Given the description of an element on the screen output the (x, y) to click on. 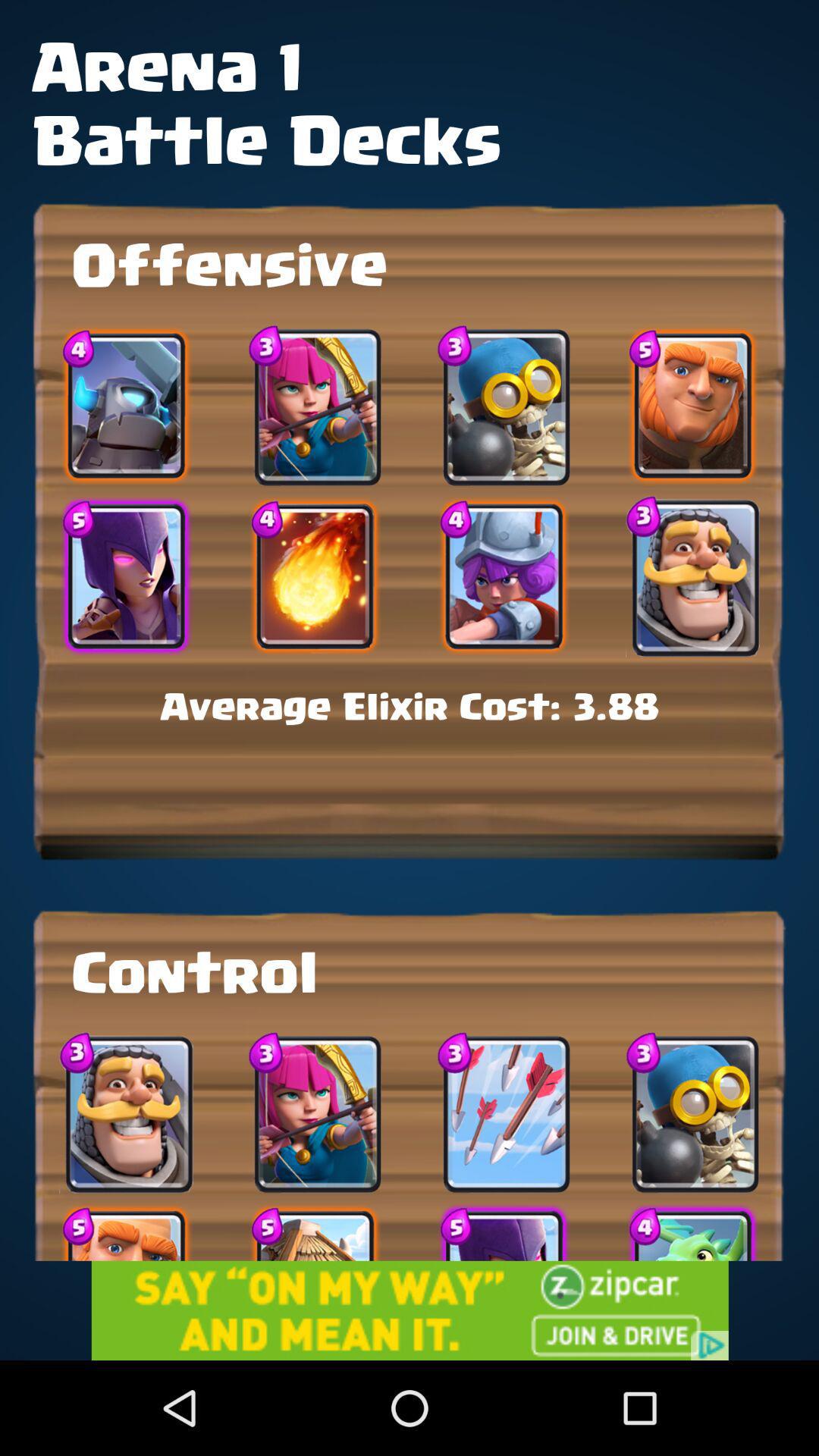
click advertisement (409, 1310)
